Given the description of an element on the screen output the (x, y) to click on. 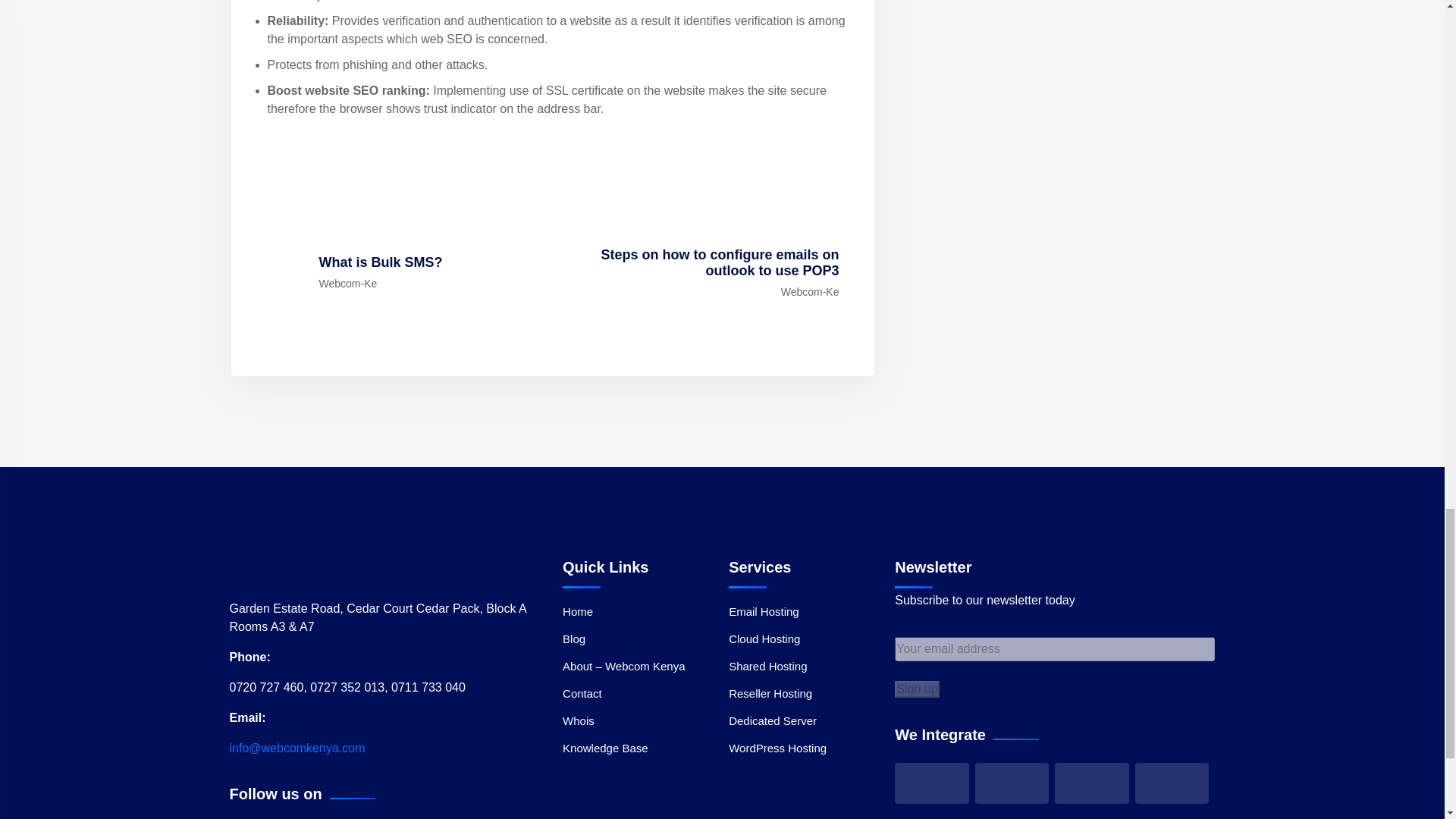
Sign up (917, 688)
